Given the description of an element on the screen output the (x, y) to click on. 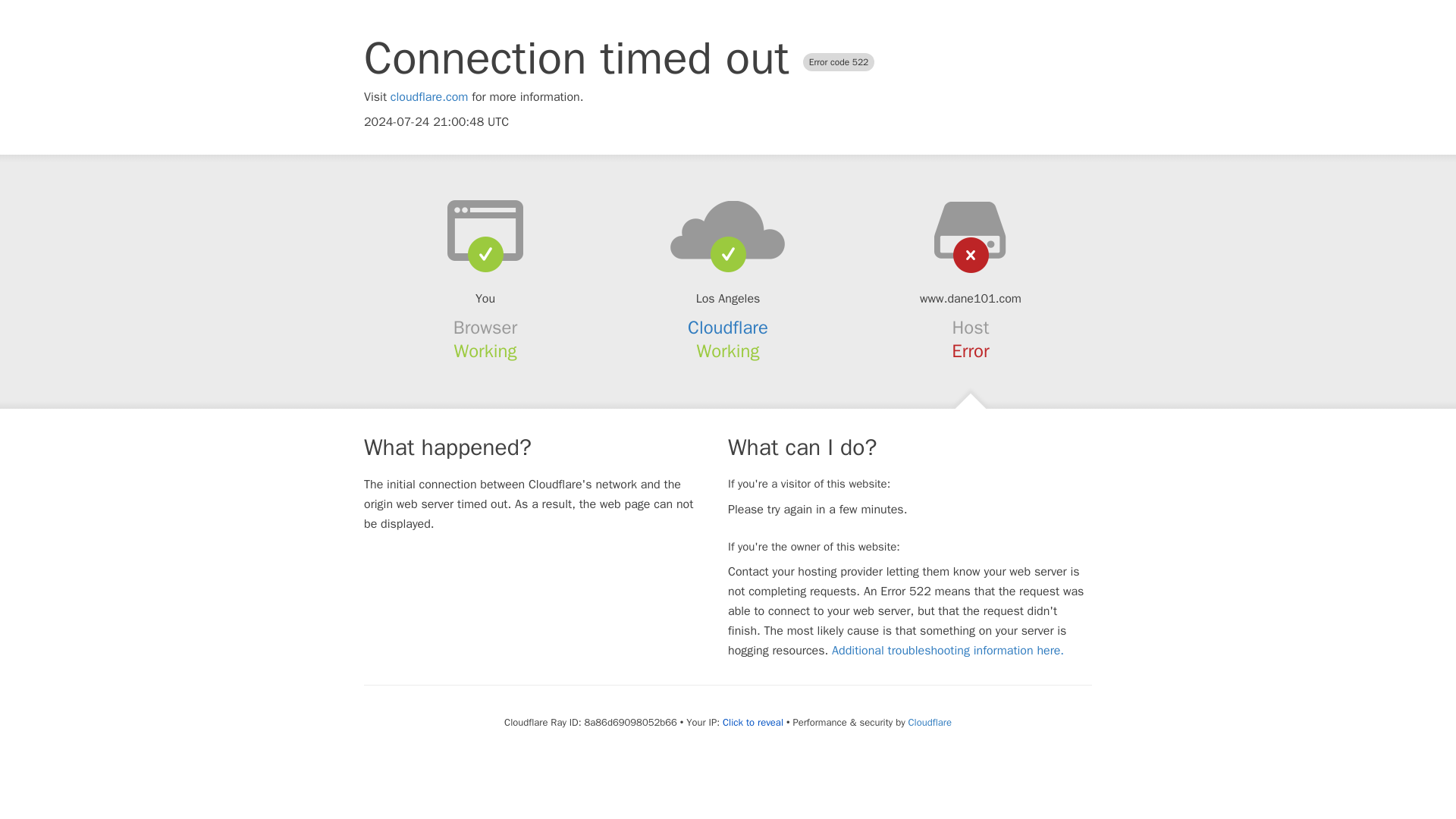
Cloudflare (930, 721)
Click to reveal (752, 722)
Additional troubleshooting information here. (947, 650)
cloudflare.com (429, 96)
Cloudflare (727, 327)
